Given the description of an element on the screen output the (x, y) to click on. 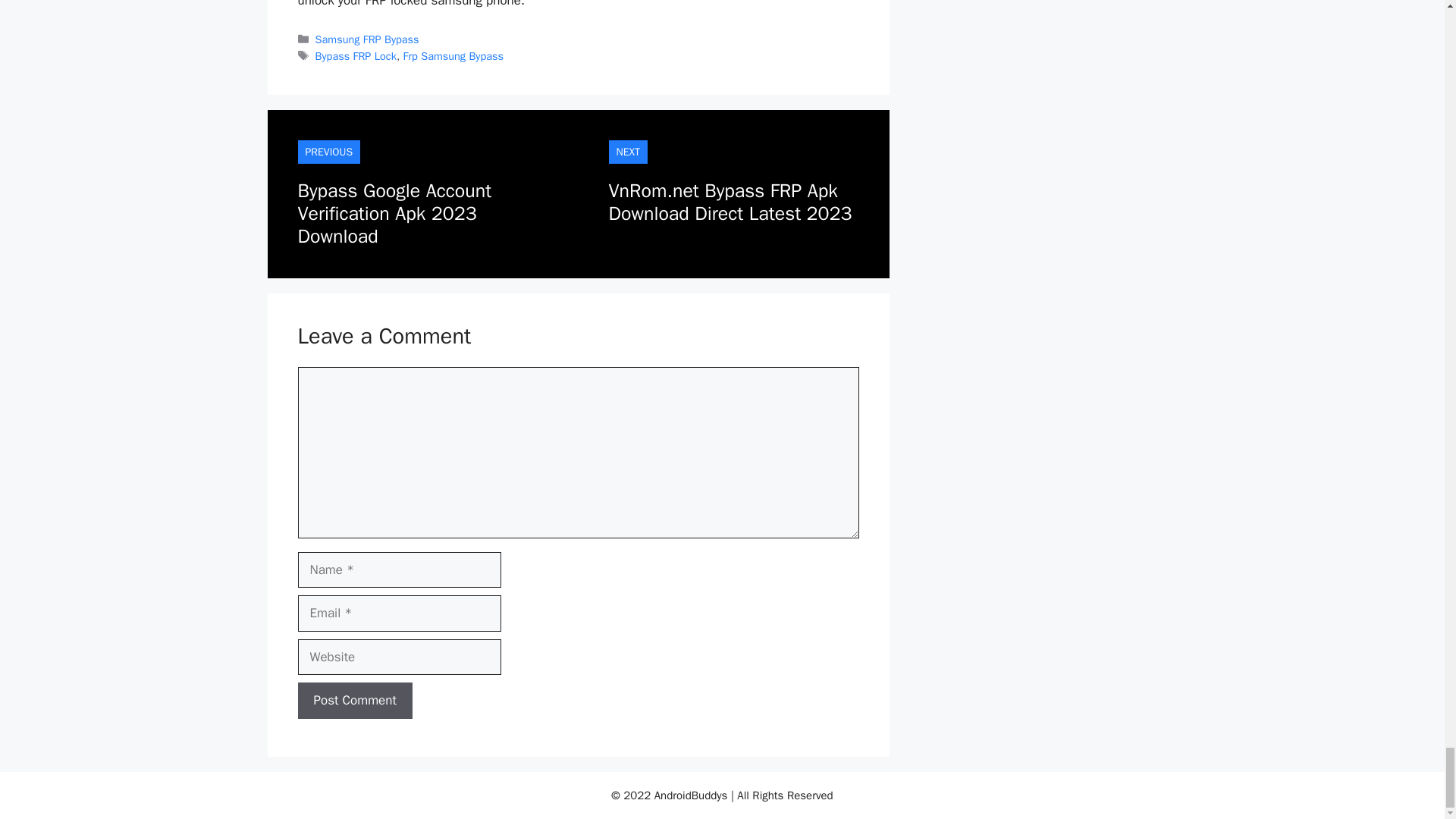
Samsung FRP Bypass (367, 38)
Bypass FRP Lock (355, 56)
Post Comment (354, 700)
Bypass Google Account Verification Apk 2023 Download (394, 213)
Post Comment (354, 700)
VnRom.net Bypass FRP Apk Download Direct Latest 2023 (729, 202)
Frp Samsung Bypass (453, 56)
